Given the description of an element on the screen output the (x, y) to click on. 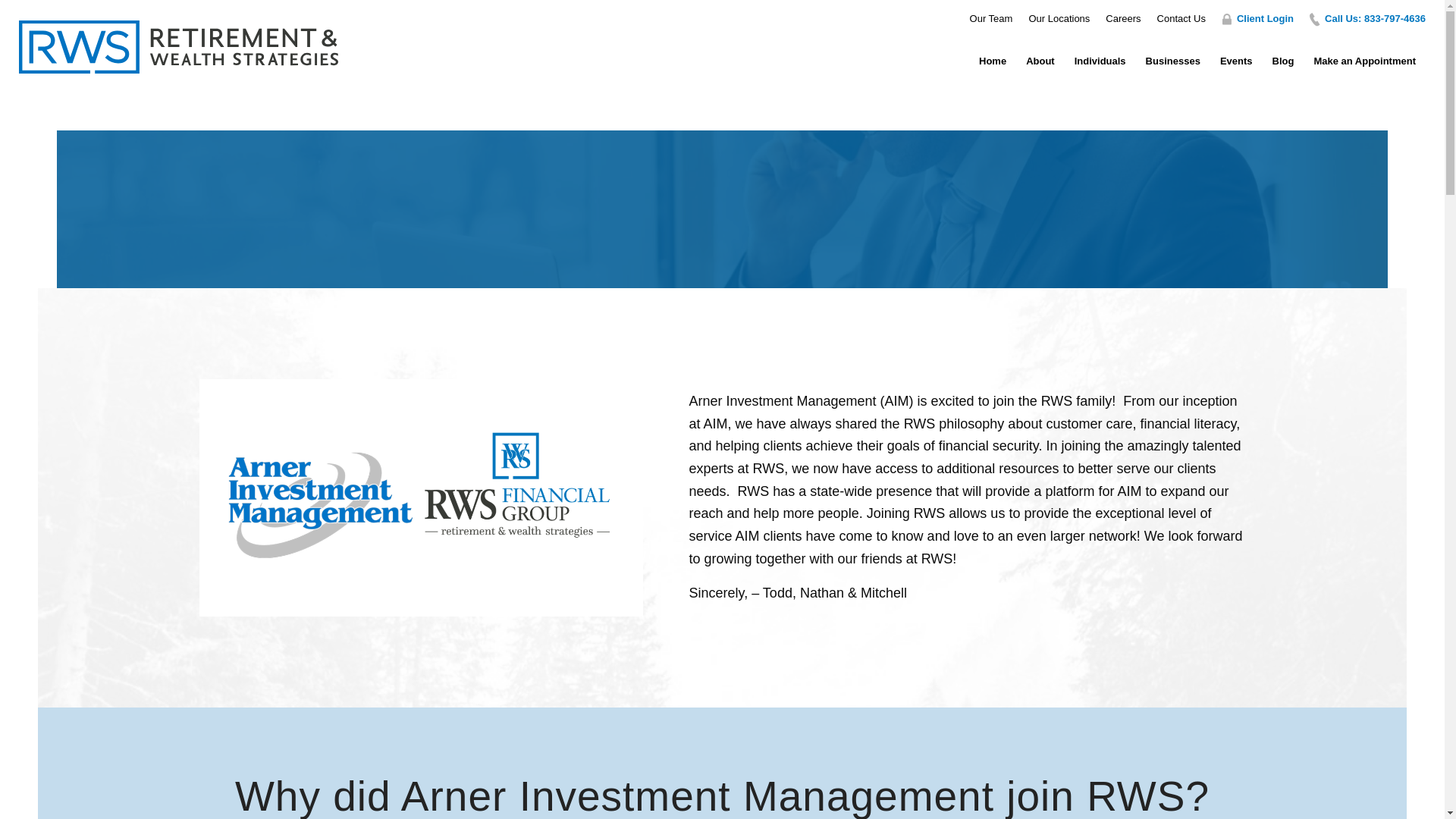
Our Team (991, 18)
Individuals (1099, 53)
Careers (1122, 18)
Contact Us (1181, 18)
Call Us: 833-797-4636 (1374, 18)
Businesses (1172, 53)
Client Login (1265, 18)
Our Locations (1058, 18)
